Given the description of an element on the screen output the (x, y) to click on. 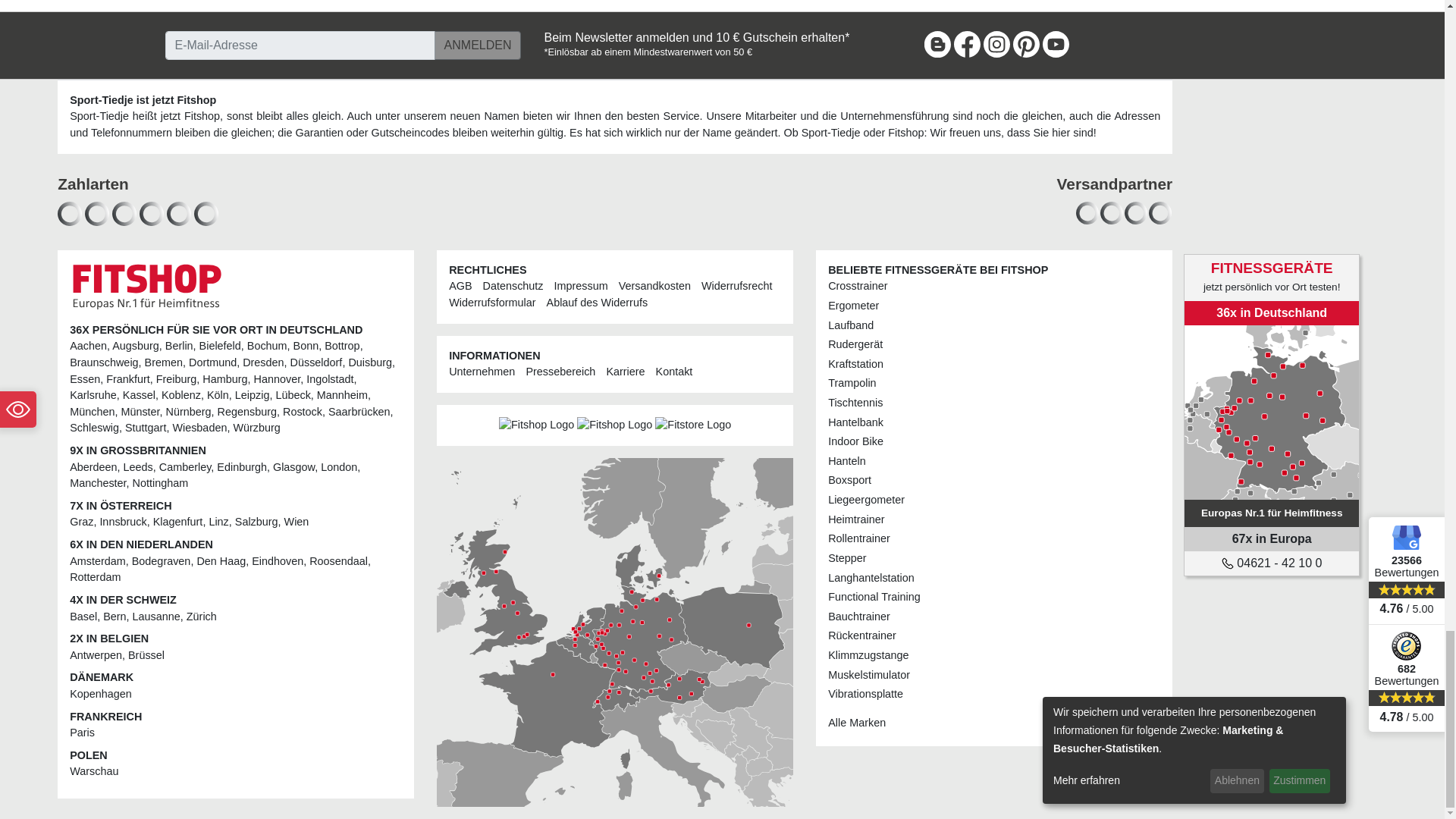
anmelden (477, 45)
